Given the description of an element on the screen output the (x, y) to click on. 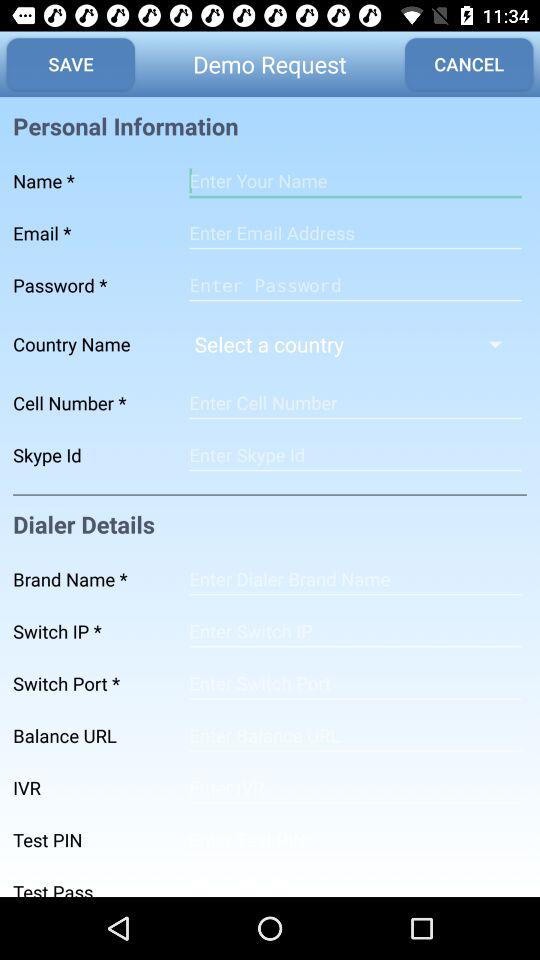
name type line (355, 181)
